Given the description of an element on the screen output the (x, y) to click on. 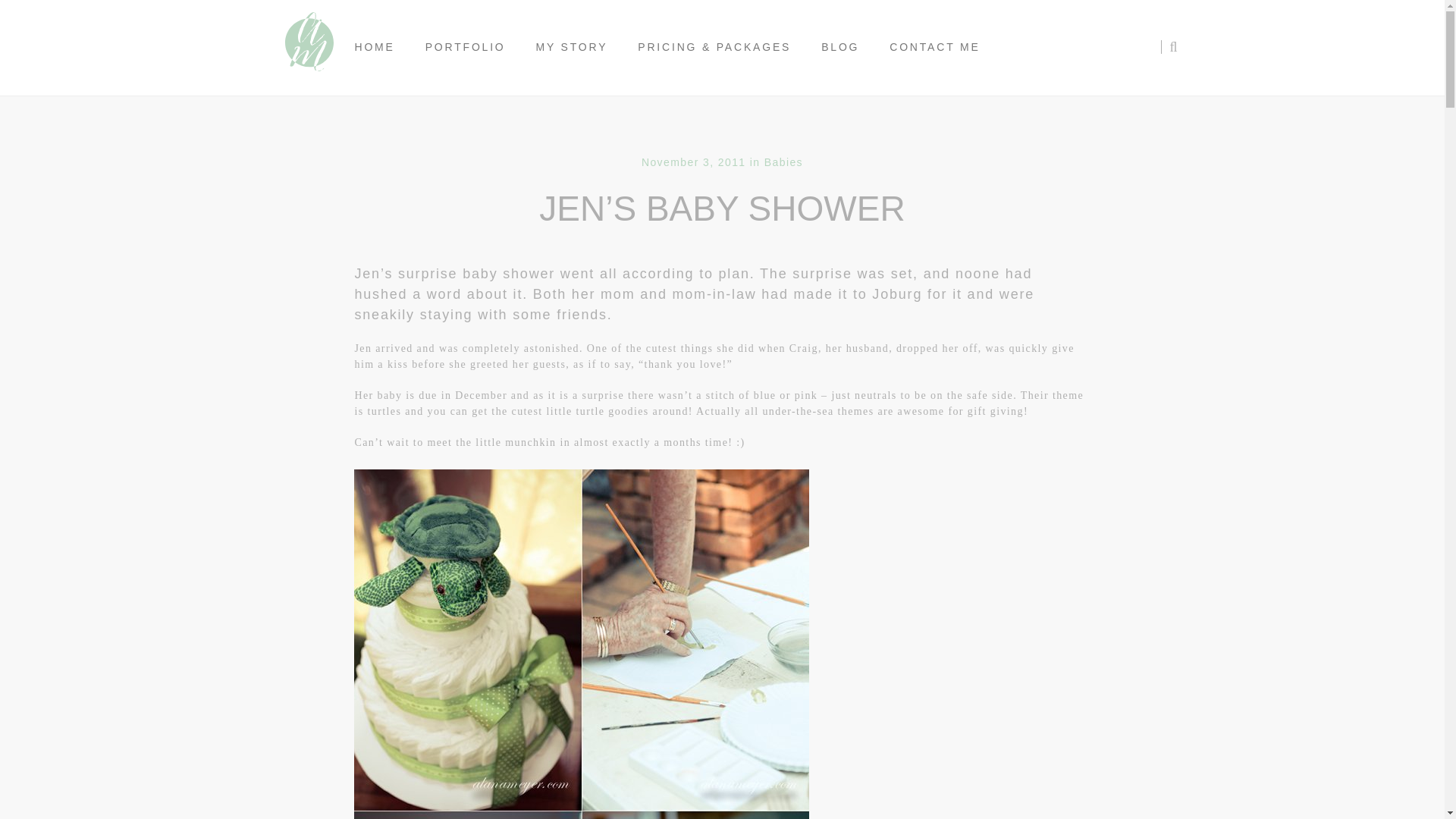
Contact Me (934, 47)
My Story (572, 47)
MY STORY (572, 47)
Blog (840, 47)
CONTACT ME (934, 47)
PORTFOLIO (465, 47)
BLOG (840, 47)
Johannesburg Family Photographer (308, 47)
Portfolio (465, 47)
HOME (374, 47)
Home (374, 47)
